Given the description of an element on the screen output the (x, y) to click on. 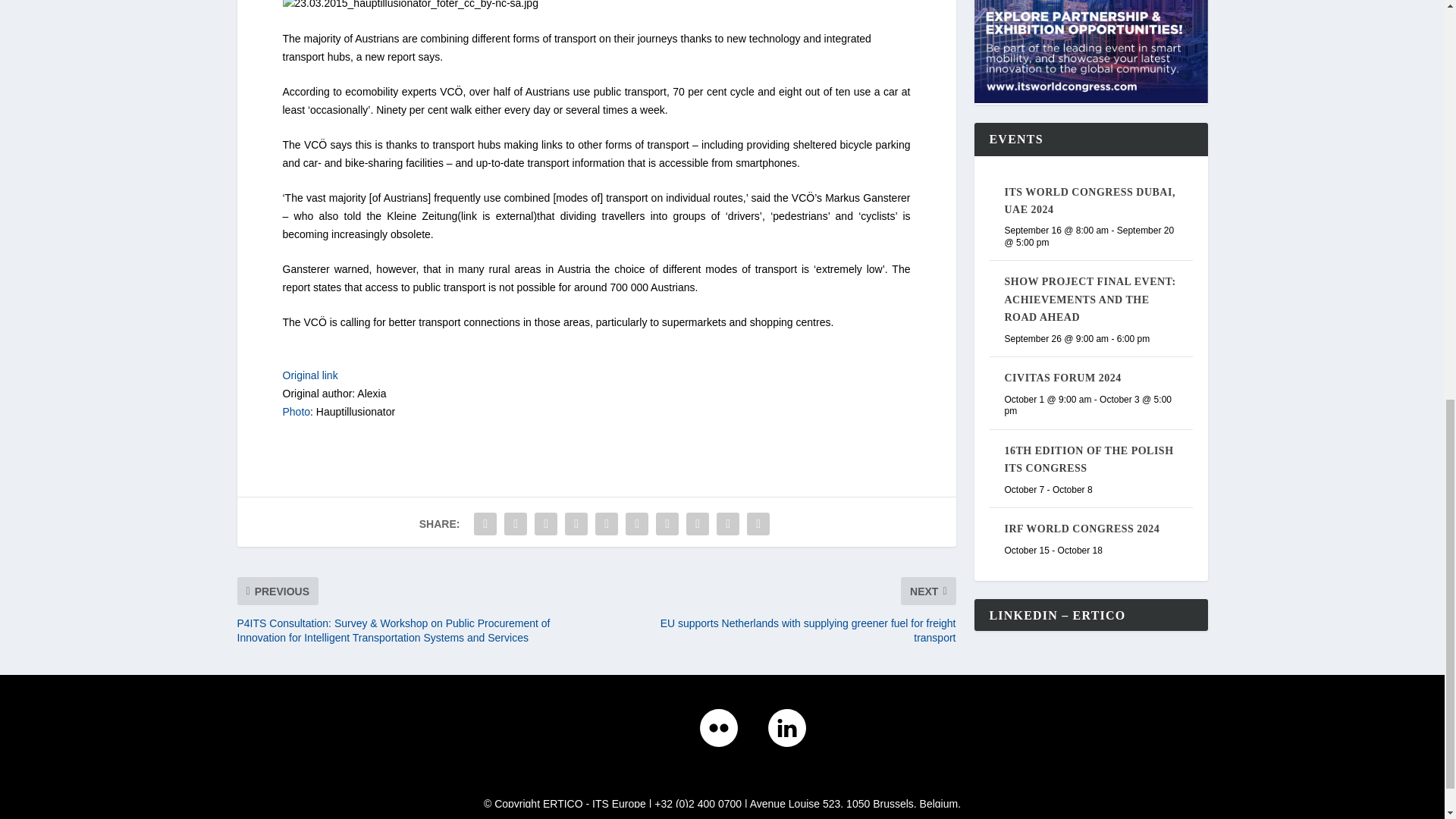
Photo (296, 411)
SHOW PROJECT FINAL EVENT: ACHIEVEMENTS AND THE ROAD AHEAD (1089, 299)
Original link (309, 375)
ITS WORLD CONGRESS DUBAI, UAE 2024 (1089, 200)
CIVITAS FORUM 2024 (1062, 378)
